Given the description of an element on the screen output the (x, y) to click on. 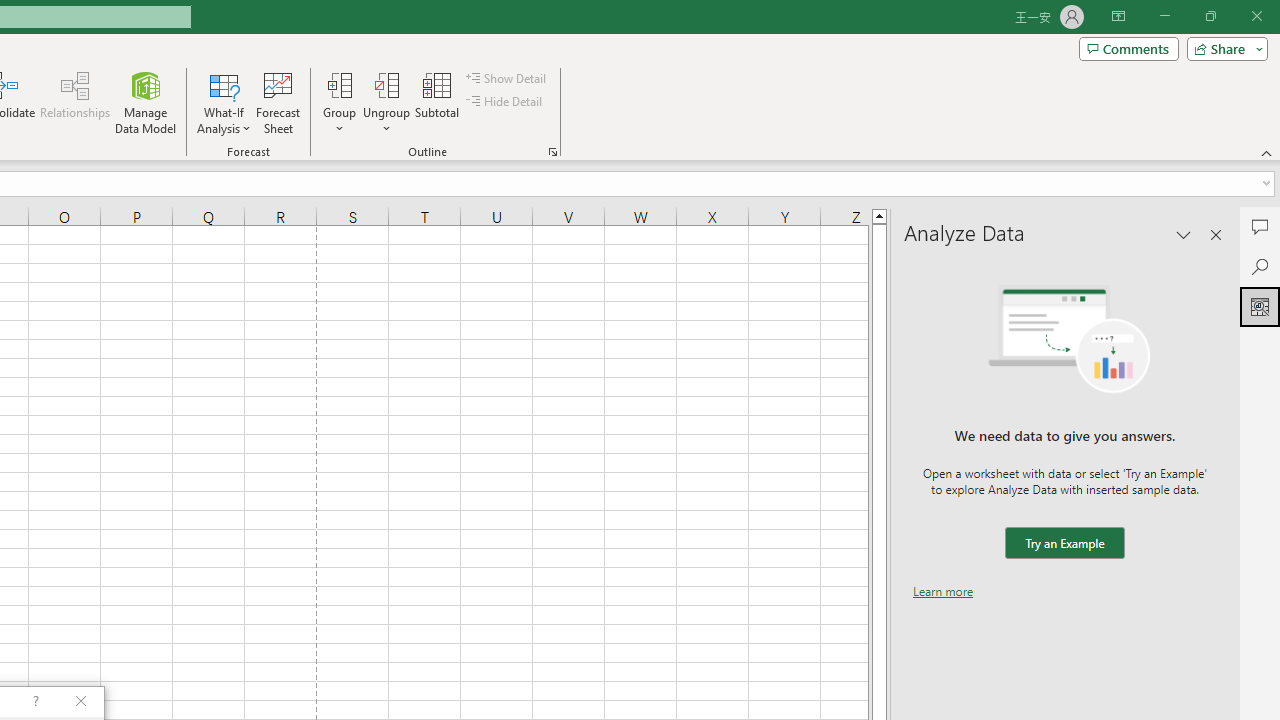
Subtotal (437, 102)
Analyze Data (1260, 306)
Learn more (943, 591)
We need data to give you answers. Try an Example (1064, 543)
Group and Outline Settings (552, 151)
